Given the description of an element on the screen output the (x, y) to click on. 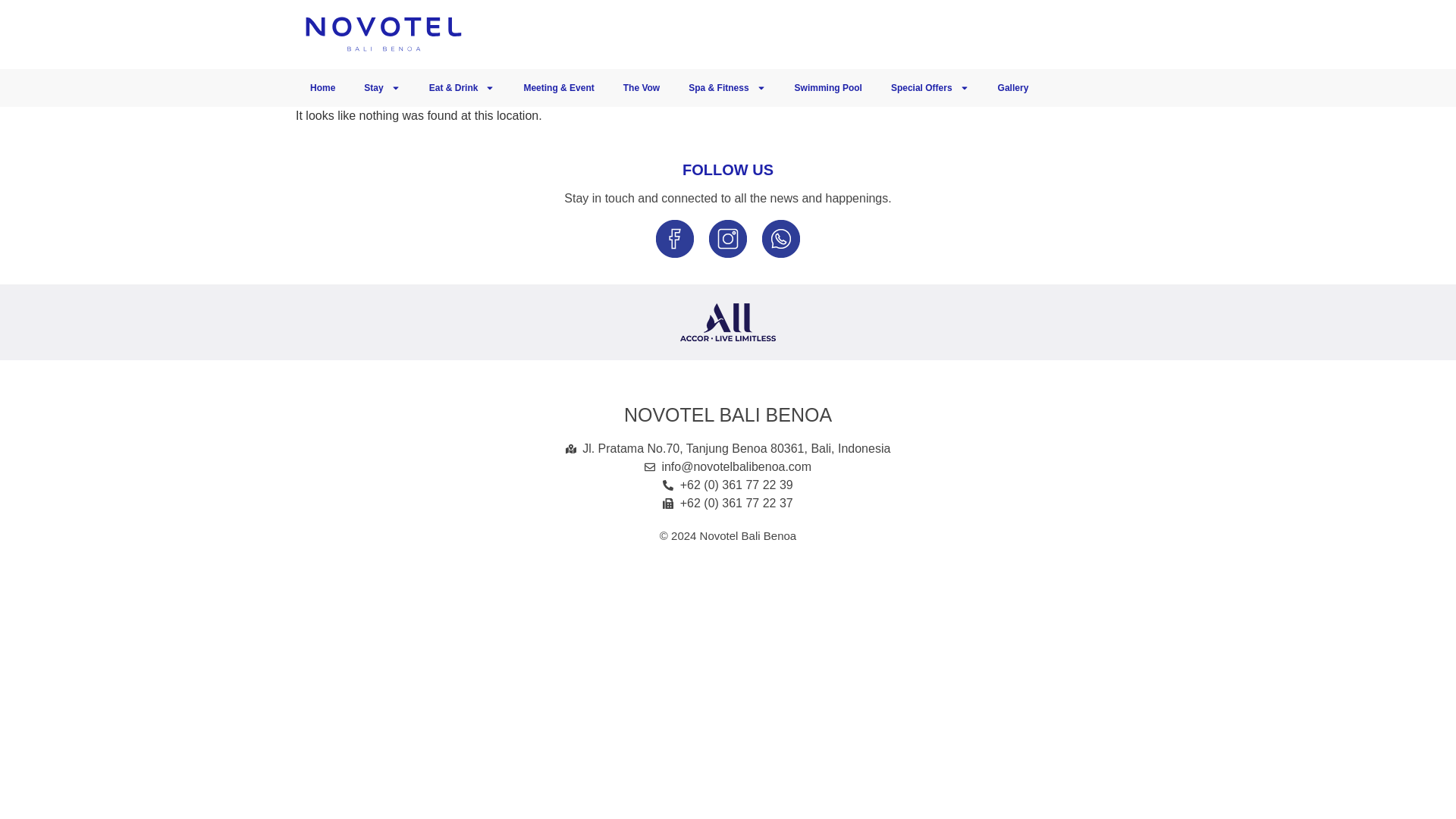
The Vow (641, 87)
Special Offers (930, 87)
Gallery (1013, 87)
Swimming Pool (828, 87)
Stay (381, 87)
Home (322, 87)
